Given the description of an element on the screen output the (x, y) to click on. 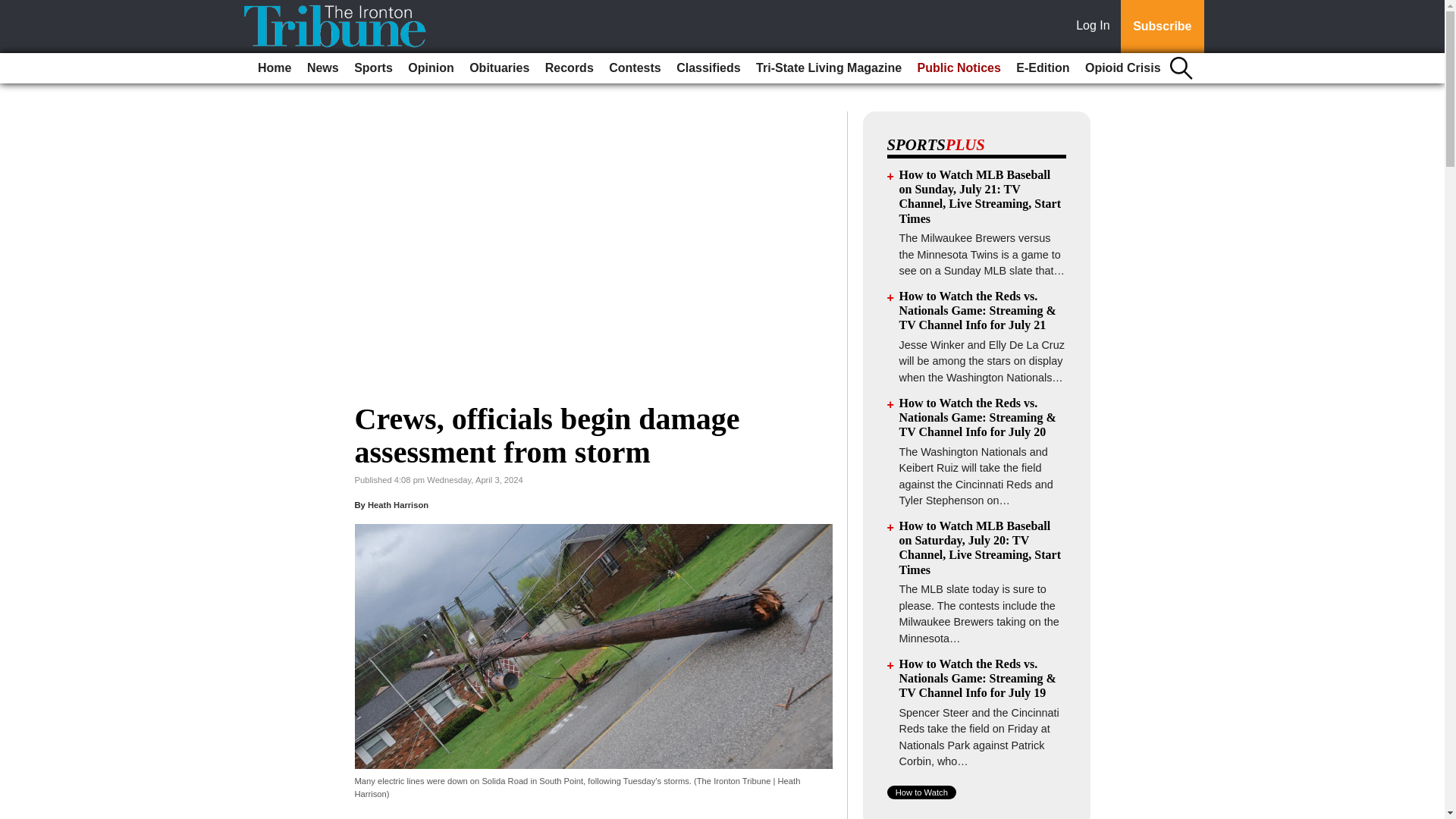
E-Edition (1042, 68)
Opioid Crisis (1122, 68)
Sports (372, 68)
Heath Harrison (398, 504)
Public Notices (959, 68)
Log In (1095, 26)
Classifieds (707, 68)
News (323, 68)
Subscribe (1162, 26)
Go (13, 9)
Obituaries (499, 68)
Home (274, 68)
Opinion (430, 68)
